Given the description of an element on the screen output the (x, y) to click on. 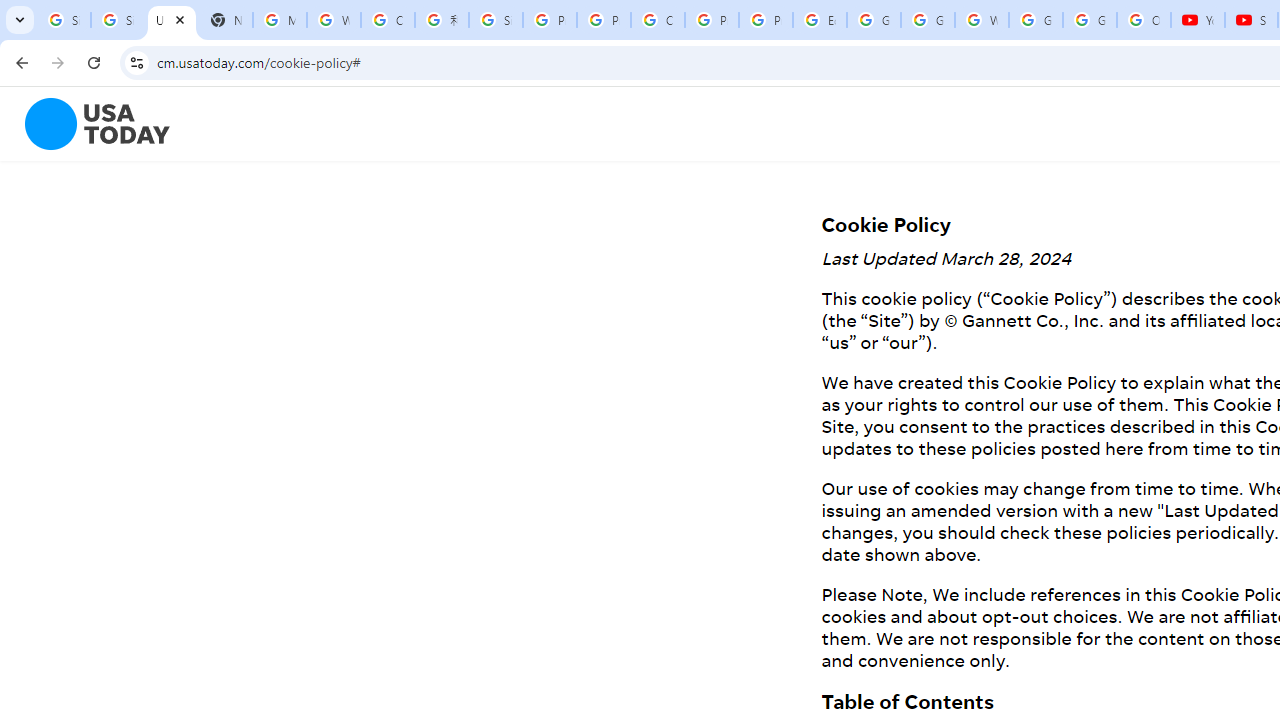
Google Account (1089, 20)
YouTube (1197, 20)
Welcome to My Activity (981, 20)
Google Slides: Sign-in (874, 20)
Who is my administrator? - Google Account Help (333, 20)
Edit and view right-to-left text - Google Docs Editors Help (819, 20)
To get missing image descriptions, open the context menu. (85, 124)
Create your Google Account (657, 20)
New Tab (225, 20)
